Given the description of an element on the screen output the (x, y) to click on. 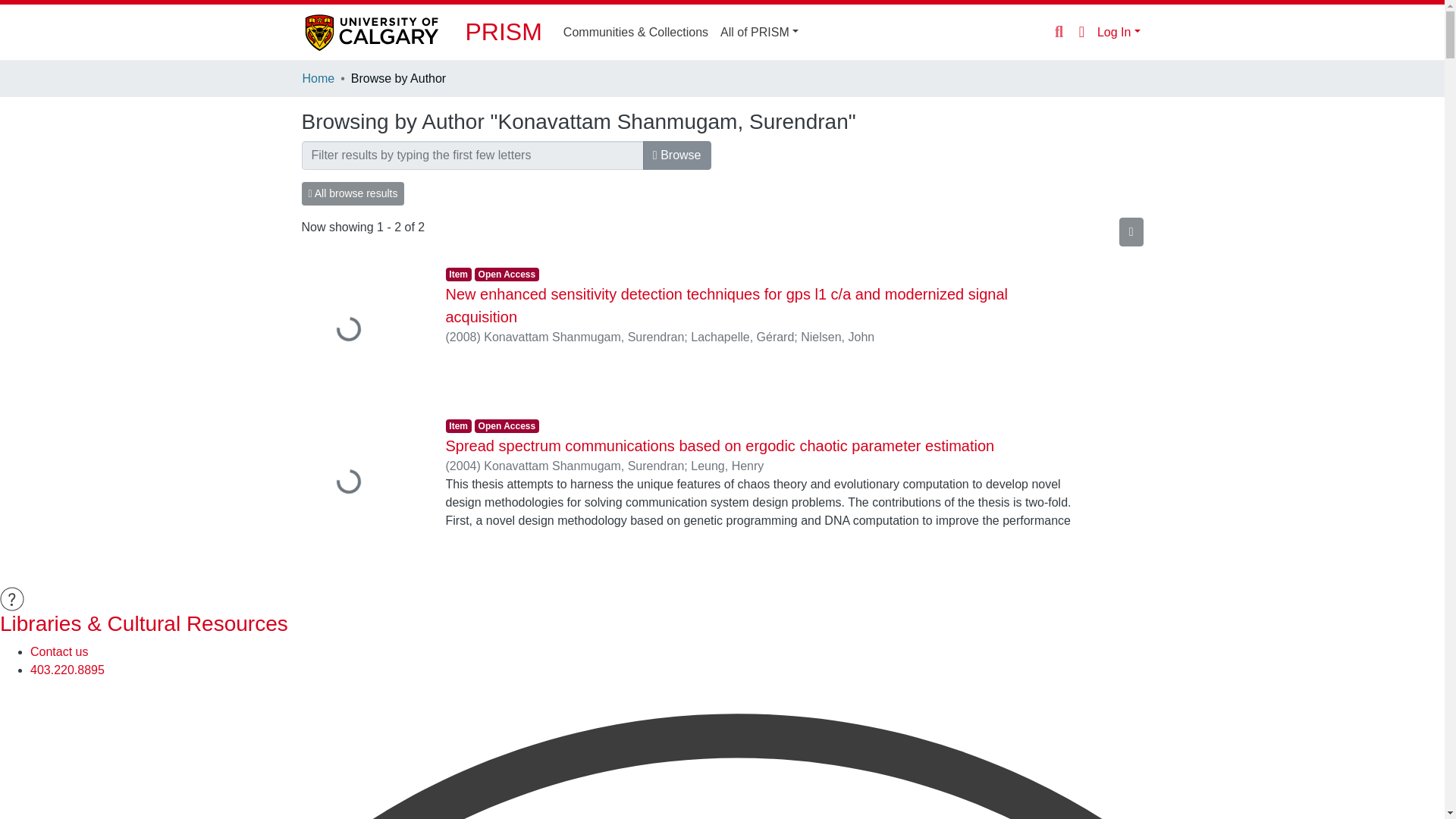
Log In (1118, 31)
All browse results (352, 193)
Loading... (362, 483)
Search (1058, 32)
Home (317, 78)
Loading... (362, 331)
All of PRISM (759, 31)
Language switch (1081, 31)
Browse (677, 154)
